Given the description of an element on the screen output the (x, y) to click on. 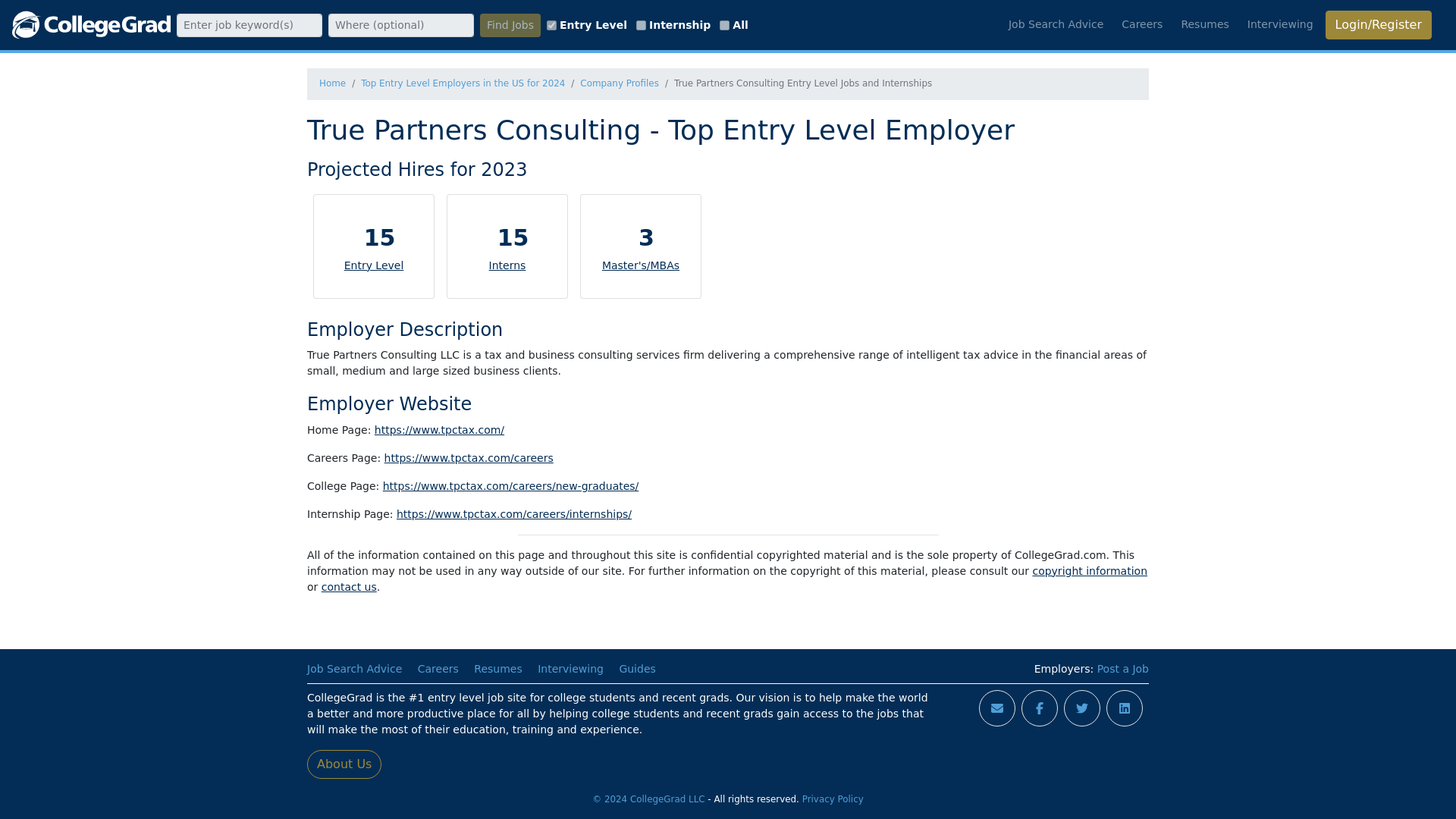
4 (724, 24)
Top Entry Level Employers in the US for 2024 (462, 82)
Resumes (1204, 24)
Guides (636, 668)
Interns (507, 265)
Entry Level (373, 265)
Home (332, 82)
Post a Job (1122, 668)
About Us (344, 764)
Privacy Policy (832, 798)
Find Jobs (510, 24)
contact us (349, 586)
Interviewing (1280, 24)
Interviewing (570, 668)
1 (551, 24)
